Given the description of an element on the screen output the (x, y) to click on. 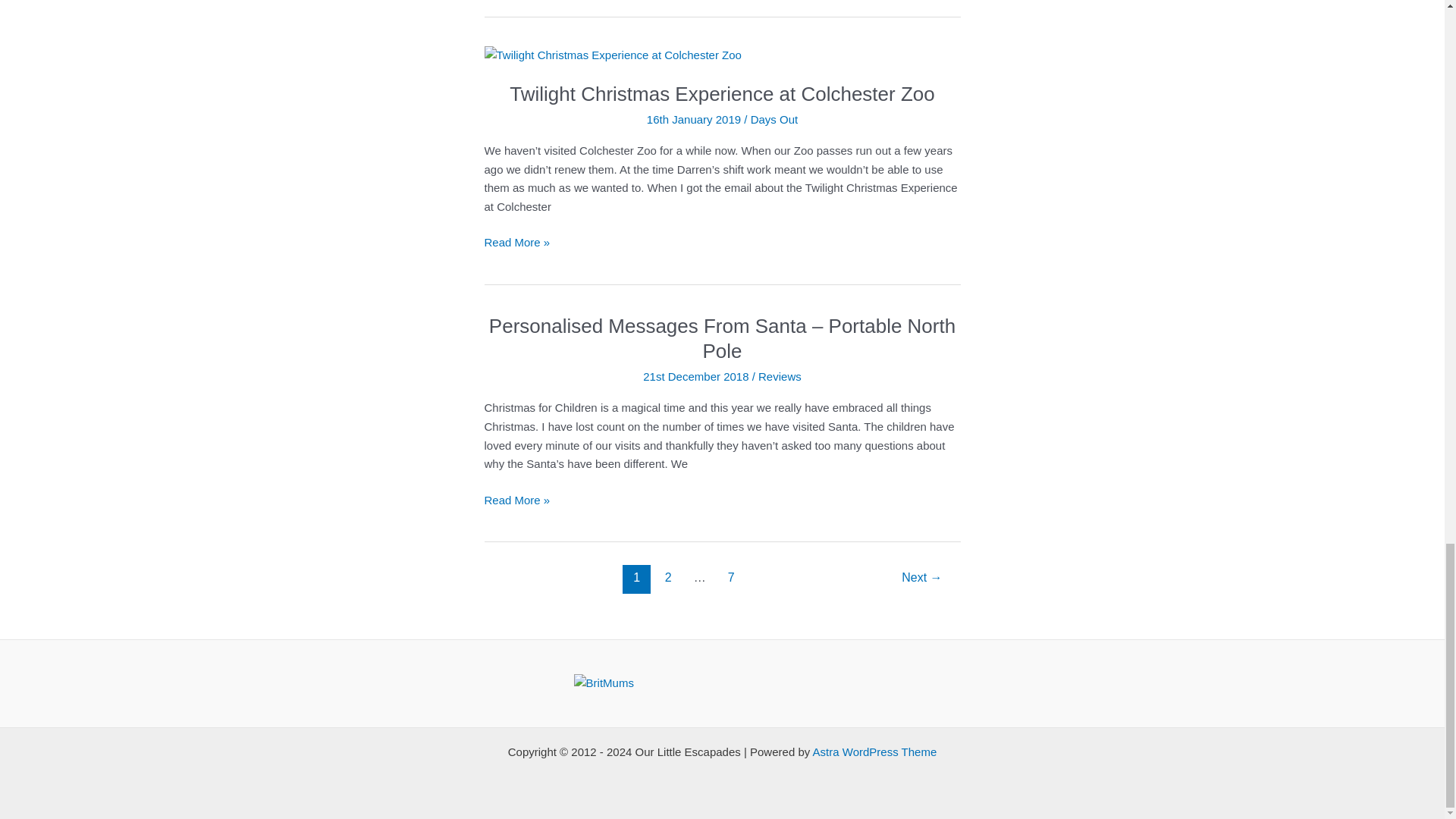
BritMums (603, 682)
